Given the description of an element on the screen output the (x, y) to click on. 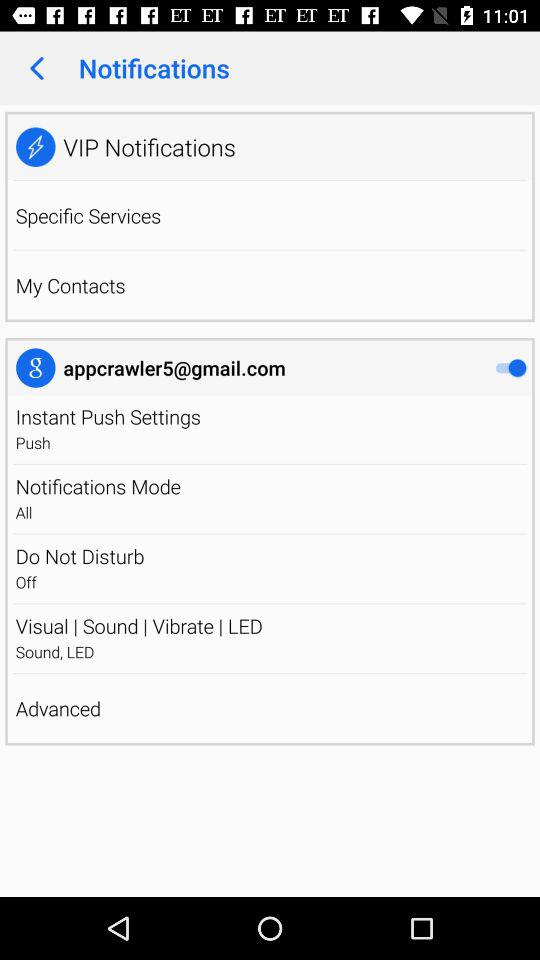
click the specific services icon (88, 215)
